Given the description of an element on the screen output the (x, y) to click on. 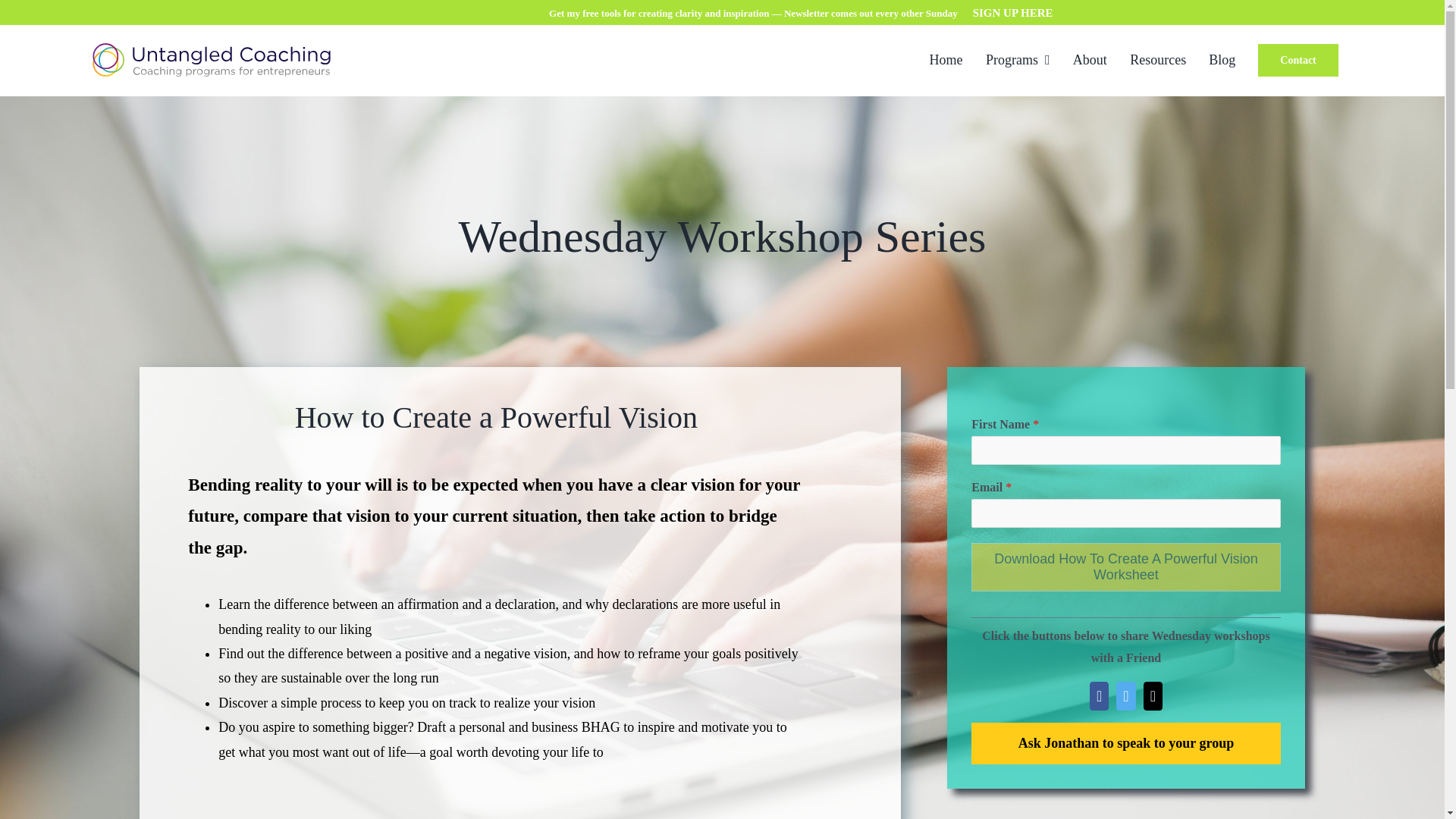
About (1088, 59)
Programs (1017, 59)
Resources (1157, 59)
Home (945, 59)
SIGN UP HERE (1012, 12)
Blog (1221, 59)
Contact (1297, 60)
